Given the description of an element on the screen output the (x, y) to click on. 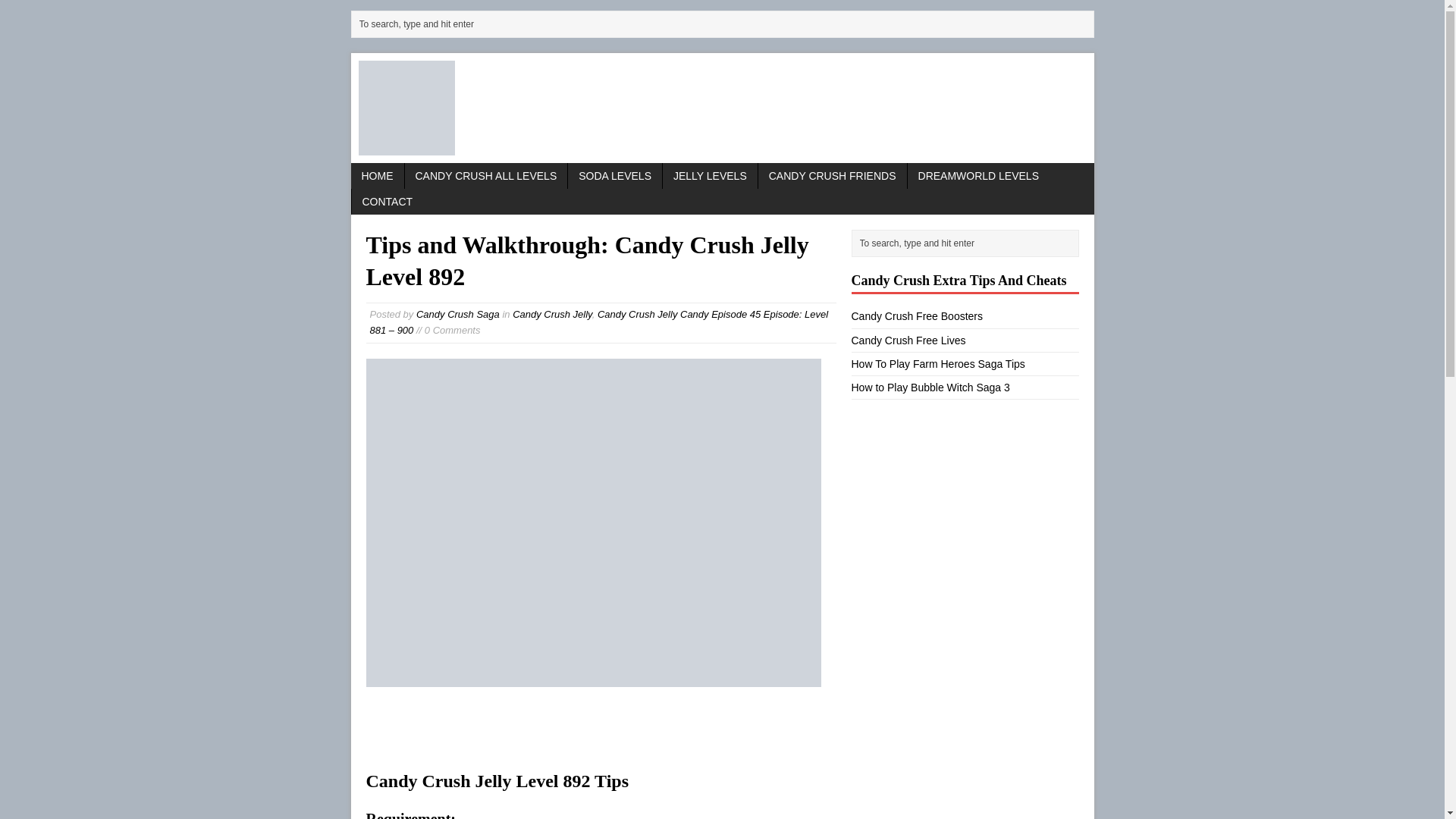
Candy Crush Mom (721, 107)
SODA LEVELS (614, 175)
HOME (376, 175)
How To Play Farm Heroes Saga Tips (937, 363)
Candy Crush Free Boosters (916, 316)
Candy Crush Jelly (552, 314)
Posts by Candy Crush Saga (457, 314)
Candy Crush Saga (457, 314)
CANDY CRUSH ALL LEVELS (485, 175)
To search, type and hit enter (725, 24)
DREAMWORLD LEVELS (978, 175)
CANDY CRUSH FRIENDS (832, 175)
JELLY LEVELS (709, 175)
Candy Crush Free Lives (907, 340)
